Given the description of an element on the screen output the (x, y) to click on. 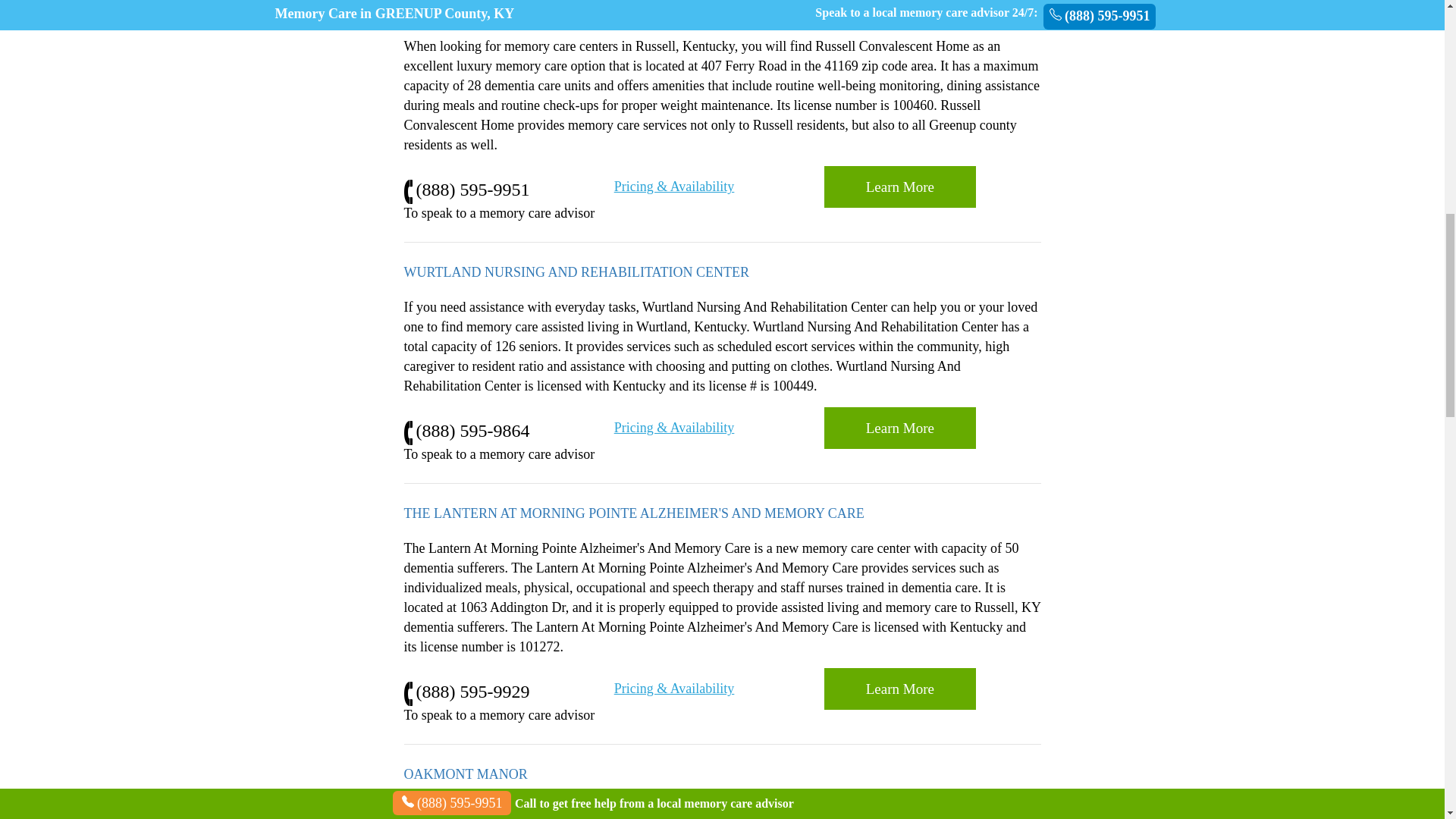
Learn More (899, 689)
Learn More (899, 427)
Learn More (899, 187)
Learn More (899, 187)
Learn More (899, 427)
Learn More (899, 689)
